Given the description of an element on the screen output the (x, y) to click on. 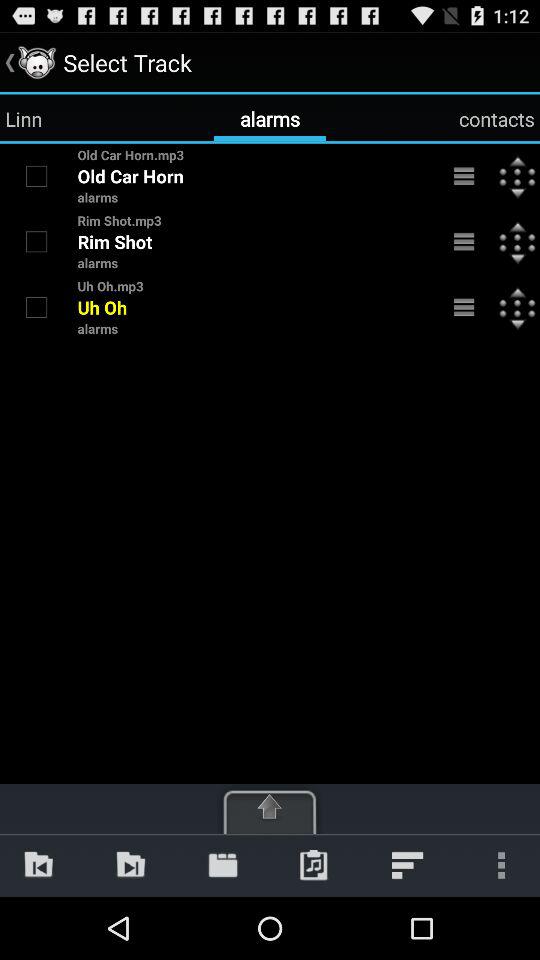
open select alarm menu (463, 241)
